Given the description of an element on the screen output the (x, y) to click on. 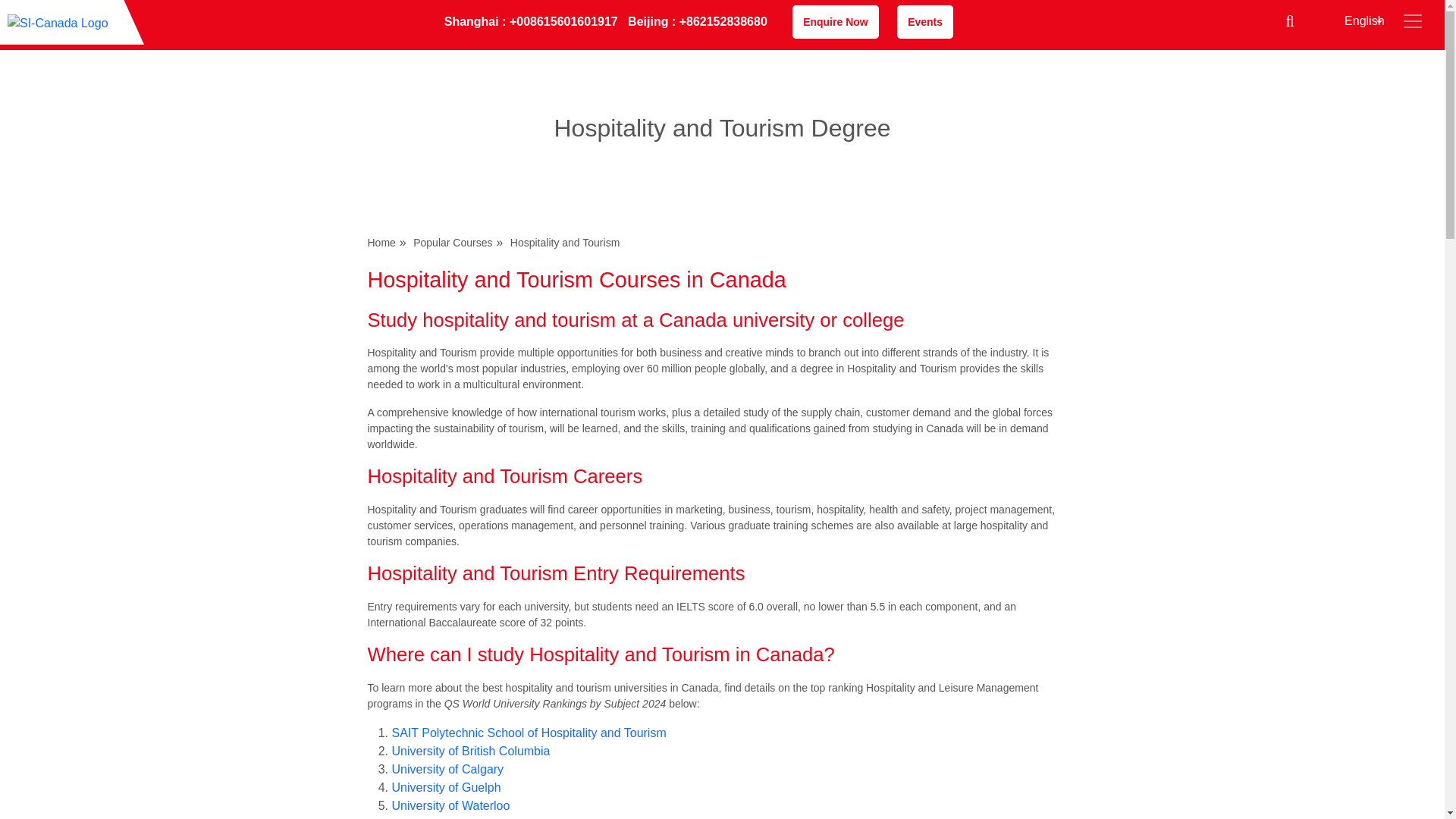
Enquire Now (835, 21)
English (1347, 20)
Events (924, 21)
